Given the description of an element on the screen output the (x, y) to click on. 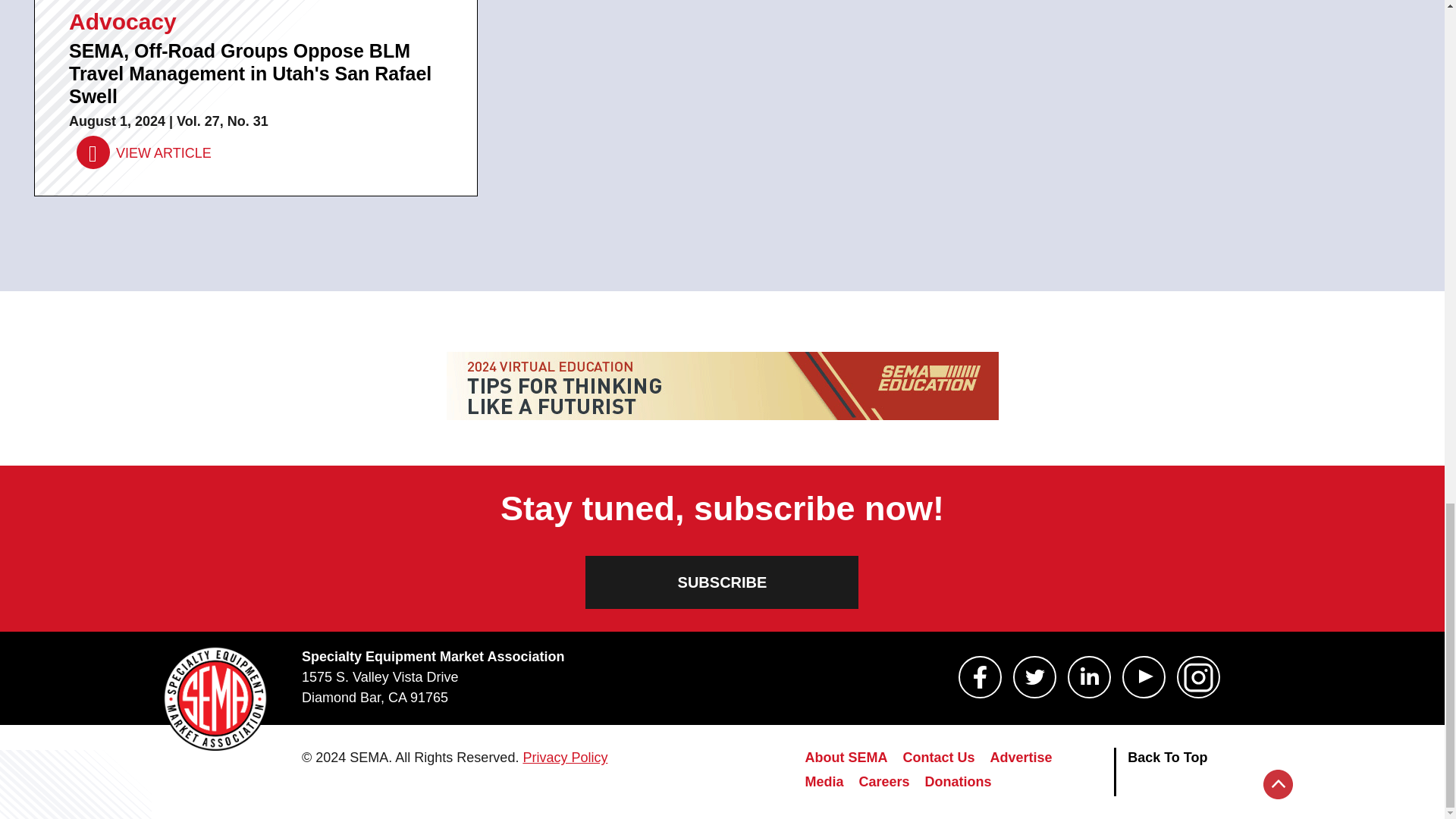
SEMA YouTube Link (1144, 677)
SUBSCRIBE (722, 582)
SEMA Virtual Education Thinking Like a Futurist August 21st (721, 386)
SEMA Twitter Link (1035, 677)
SEMA Instagram Link (1198, 677)
SEMA Facebook Link (979, 677)
SEMA LinkedIn Link (1088, 677)
VIEW ARTICLE (143, 153)
Privacy Policy (564, 757)
